Given the description of an element on the screen output the (x, y) to click on. 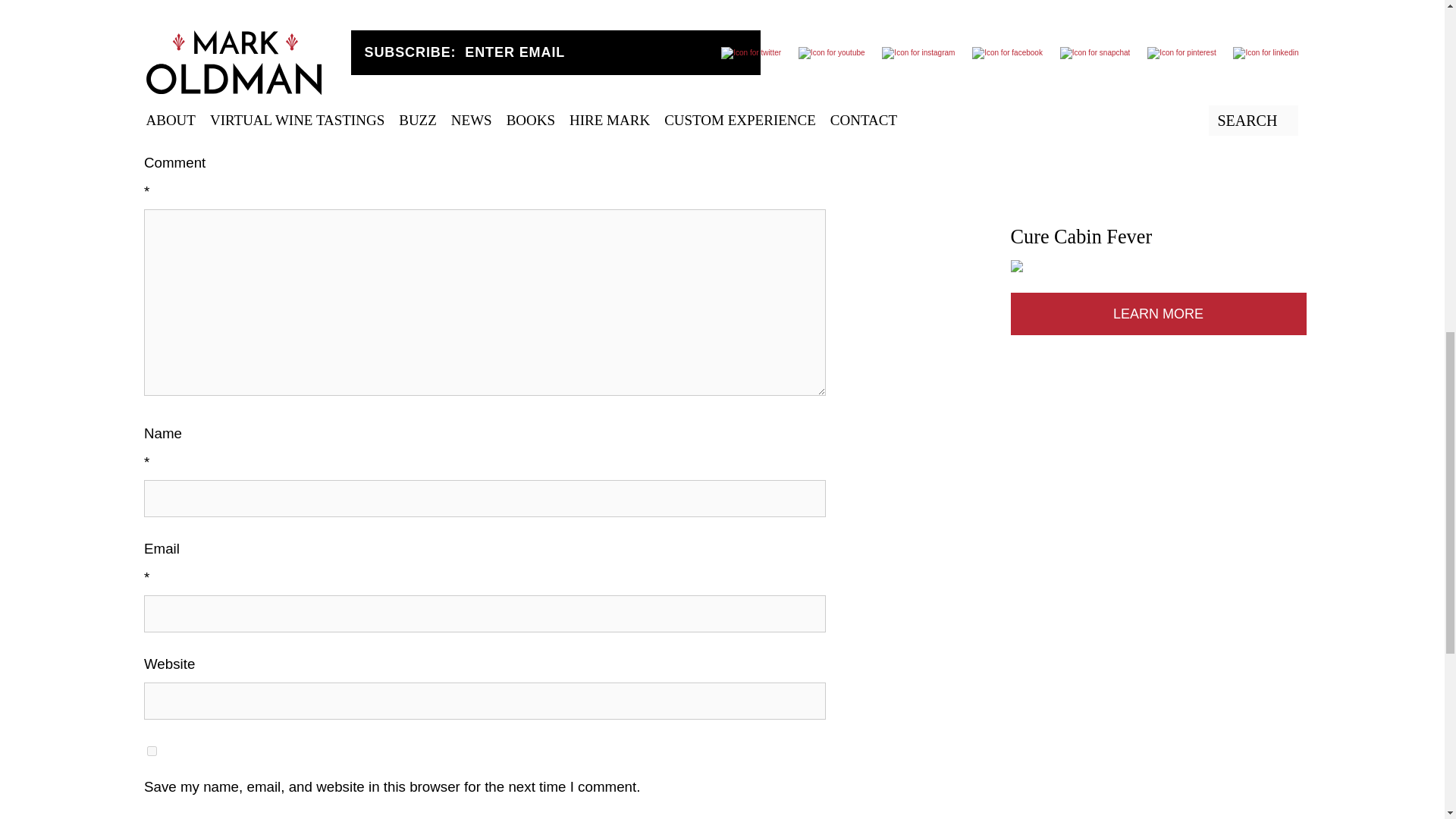
yes (152, 750)
